Given the description of an element on the screen output the (x, y) to click on. 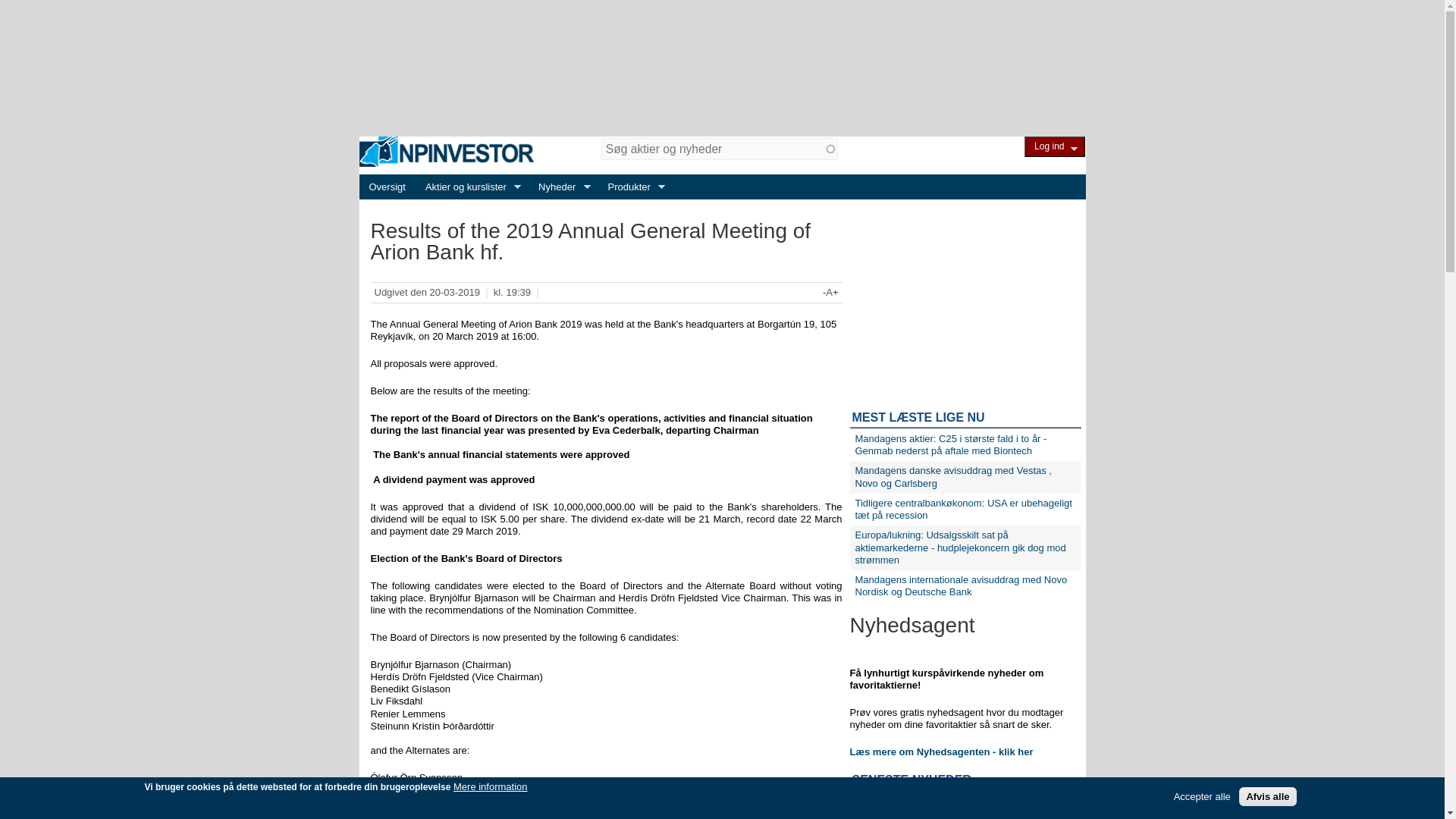
3rd party ad content (722, 68)
NPinvestor.dk - finansnyheder, analyser og aktiekurser (446, 151)
Oversigt (386, 186)
